Given the description of an element on the screen output the (x, y) to click on. 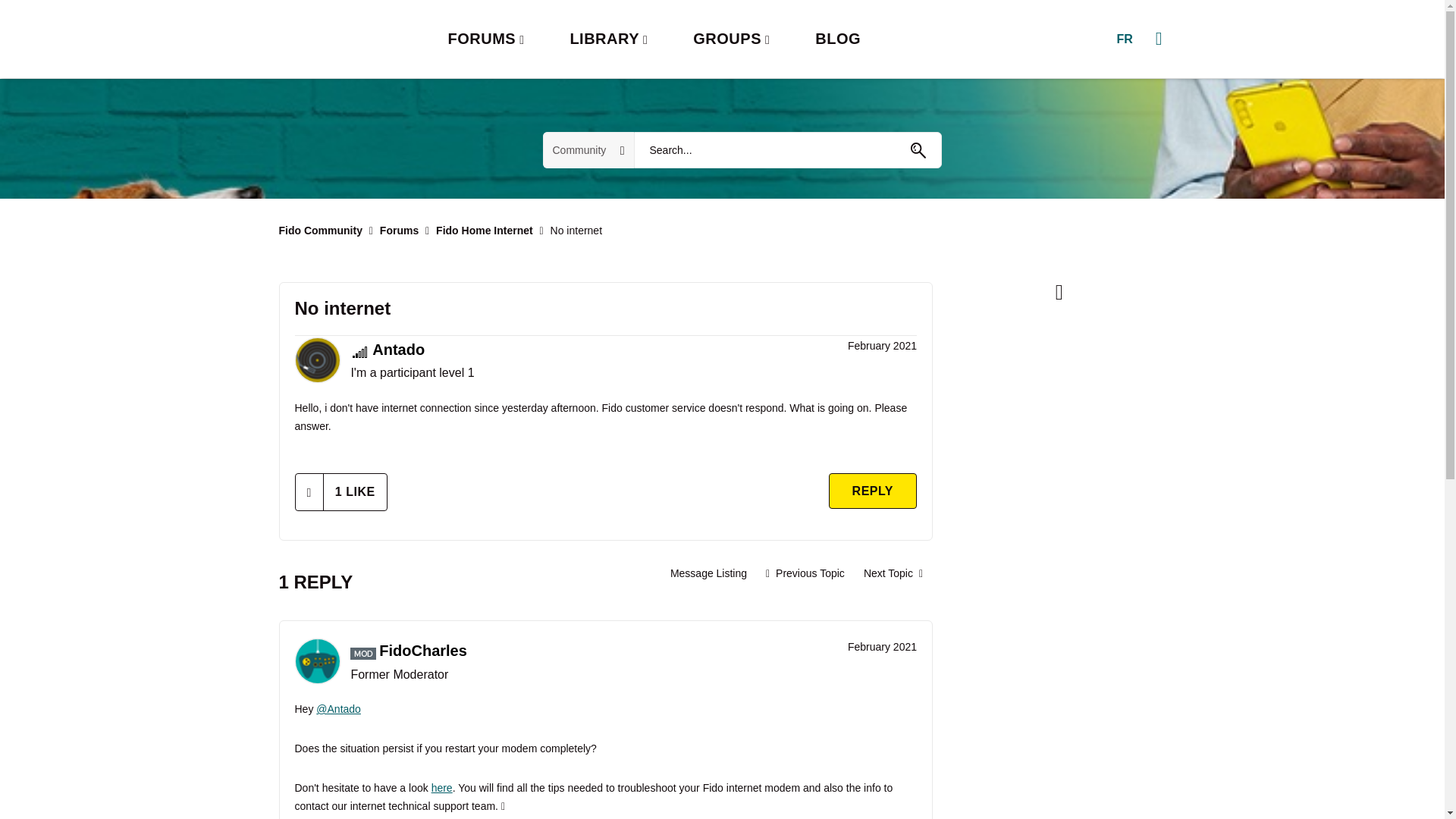
Go (917, 149)
Forums (399, 230)
BLOG (837, 39)
Fido Home Internet (483, 230)
FR (1124, 38)
Fido Community (320, 230)
Search Granularity (588, 149)
Antado (398, 349)
Go (917, 149)
I'm a participant level 1 (359, 351)
Search (787, 149)
GROUPS (730, 39)
Fido (332, 39)
Antado (316, 360)
FORUMS (485, 39)
